Given the description of an element on the screen output the (x, y) to click on. 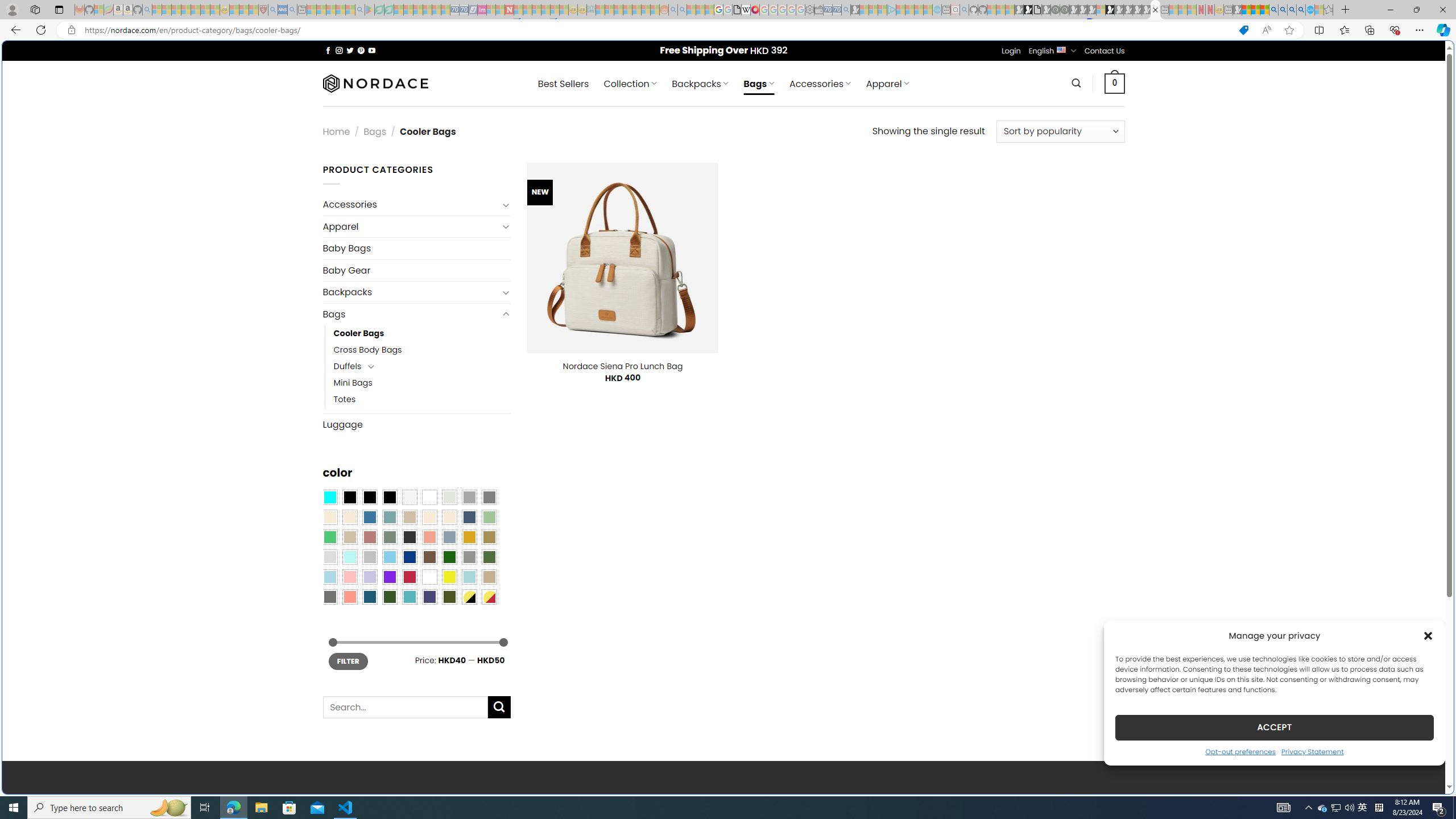
Follow on Pinterest (360, 49)
White (429, 577)
Caramel (429, 517)
Brown (429, 557)
All Gray (488, 497)
This site has coupons! Shopping in Microsoft Edge (1243, 29)
